Given the description of an element on the screen output the (x, y) to click on. 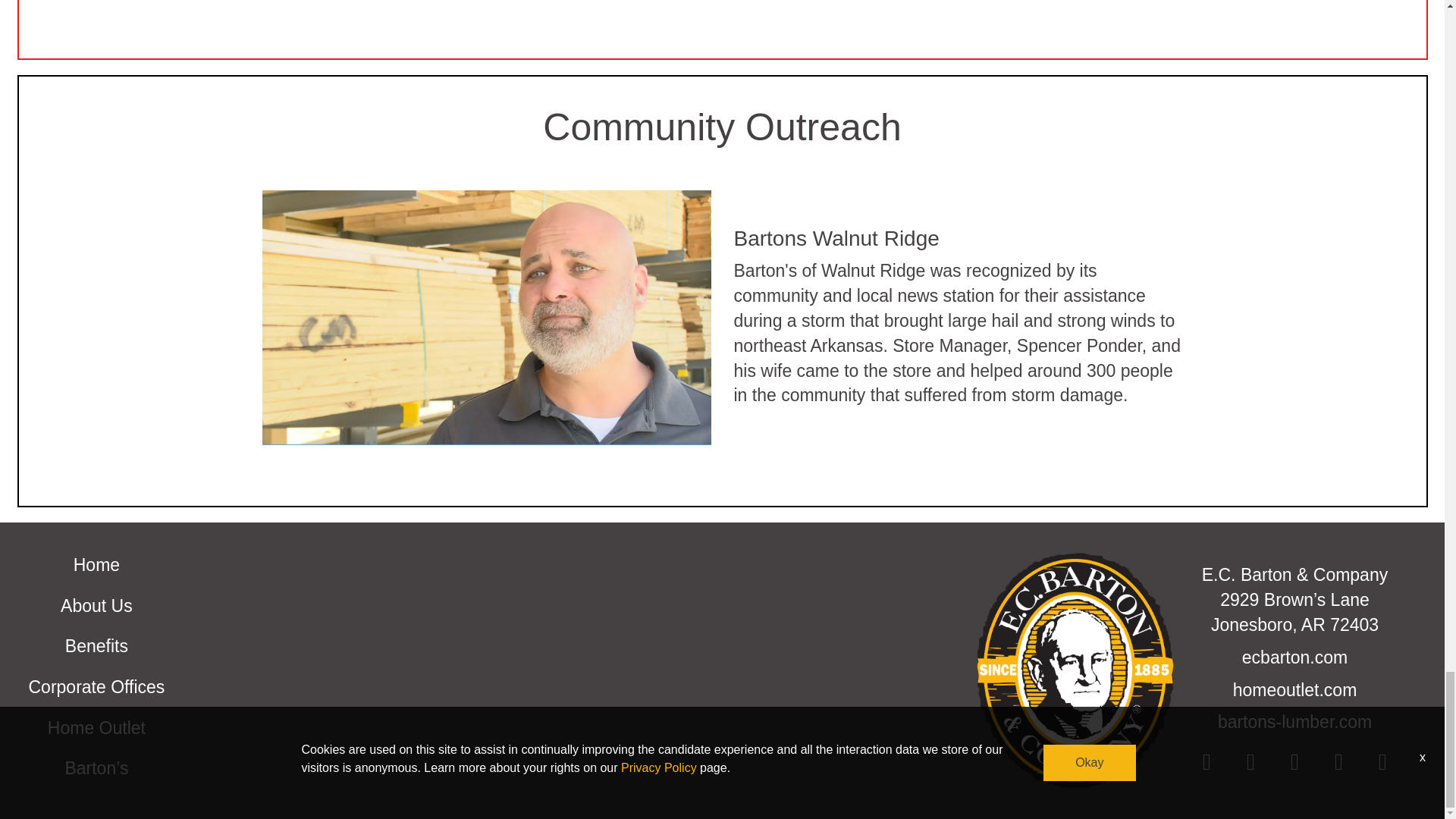
Home Outlet (96, 728)
homeoutlet.com (1295, 689)
Benefits (96, 646)
About Us (96, 606)
Corporate Offices (97, 687)
Home (96, 565)
ecbarton.com (1295, 657)
